Given the description of an element on the screen output the (x, y) to click on. 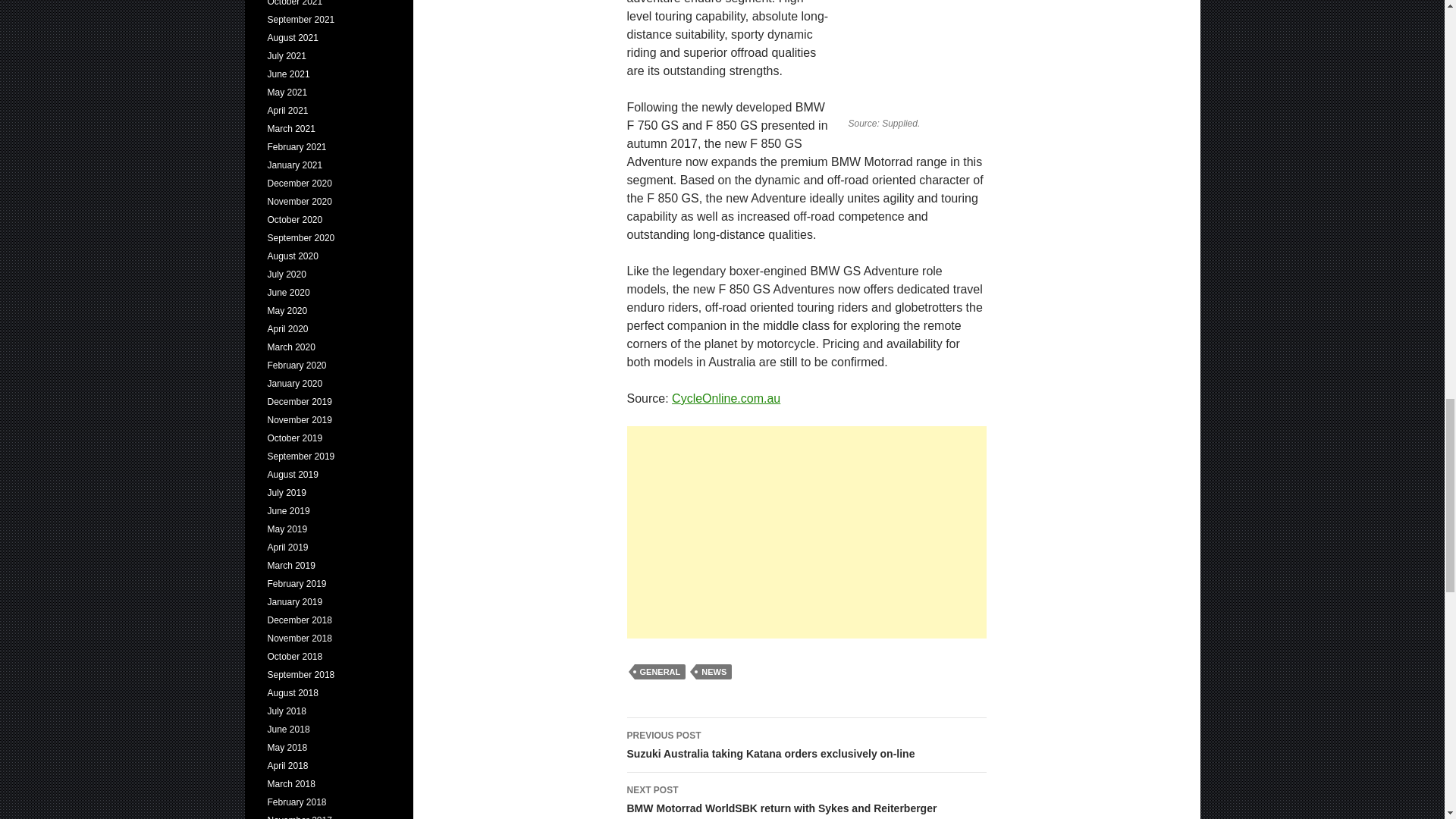
CycleOnline.com.au (725, 398)
NEWS (713, 671)
GENERAL (659, 671)
Advertisement (805, 531)
